Given the description of an element on the screen output the (x, y) to click on. 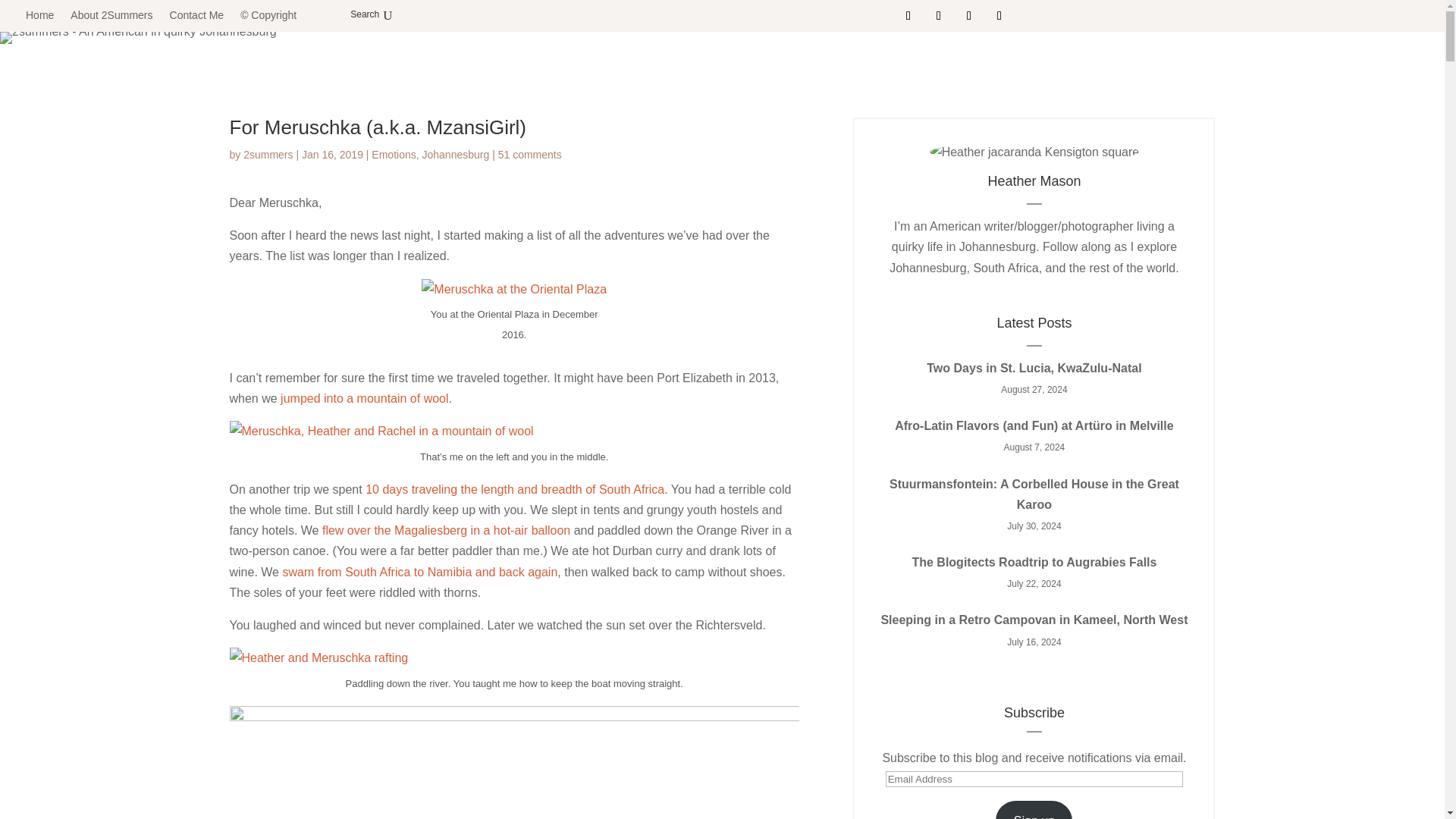
Follow on X (938, 15)
10 days traveling the length and breadth of South Africa (514, 489)
Contact Me (197, 14)
Follow on Instagram (968, 15)
Home (39, 14)
2summers (267, 154)
jumped into a mountain of wool (364, 398)
Emotions (392, 154)
Follow on Bloglovin (999, 15)
170222-Heather-Banner-web-size-2 (138, 37)
